Given the description of an element on the screen output the (x, y) to click on. 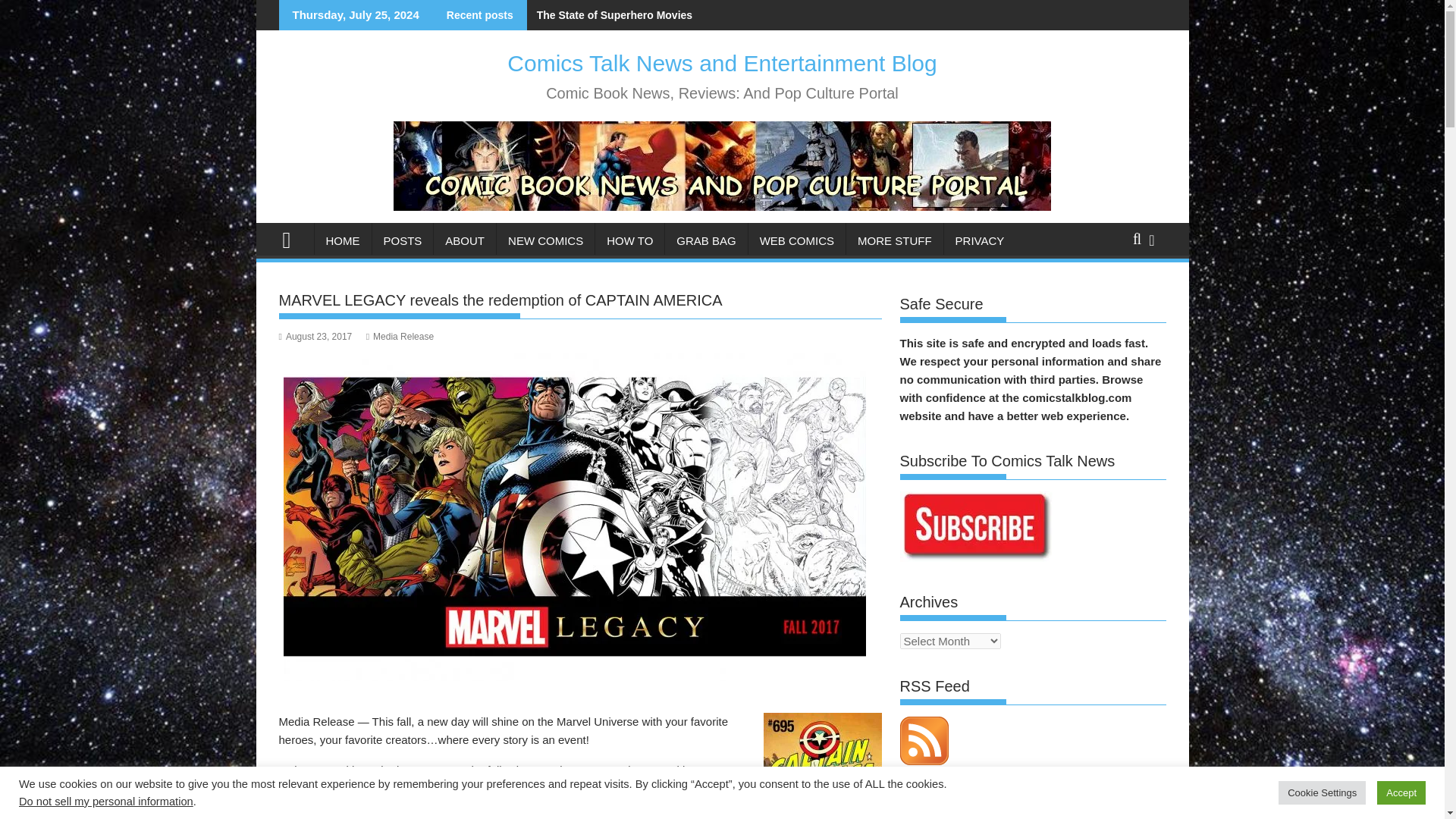
WEB COMICS (796, 240)
MORE STUFF (894, 240)
ABOUT (464, 240)
Comics Talk News and Entertainment Blog (293, 238)
The State of Superhero Movies (610, 15)
Comics Talk News and Entertainment Blog (721, 63)
The State of Superhero Movies (610, 15)
PRIVACY (979, 240)
POSTS (401, 240)
NEW COMICS (545, 240)
